Given the description of an element on the screen output the (x, y) to click on. 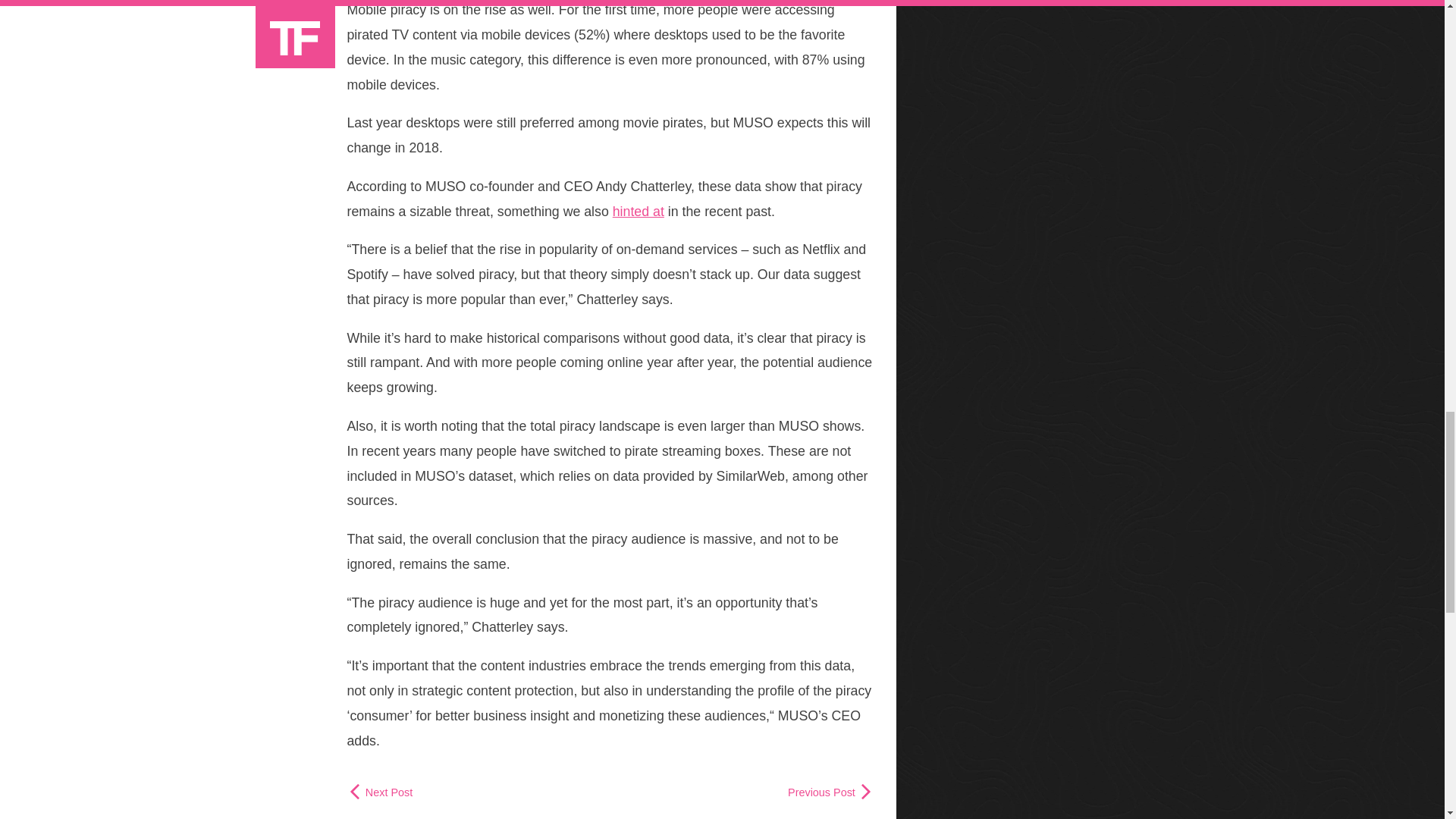
hinted at (637, 211)
Previous Post (830, 791)
Next Post (380, 791)
